Given the description of an element on the screen output the (x, y) to click on. 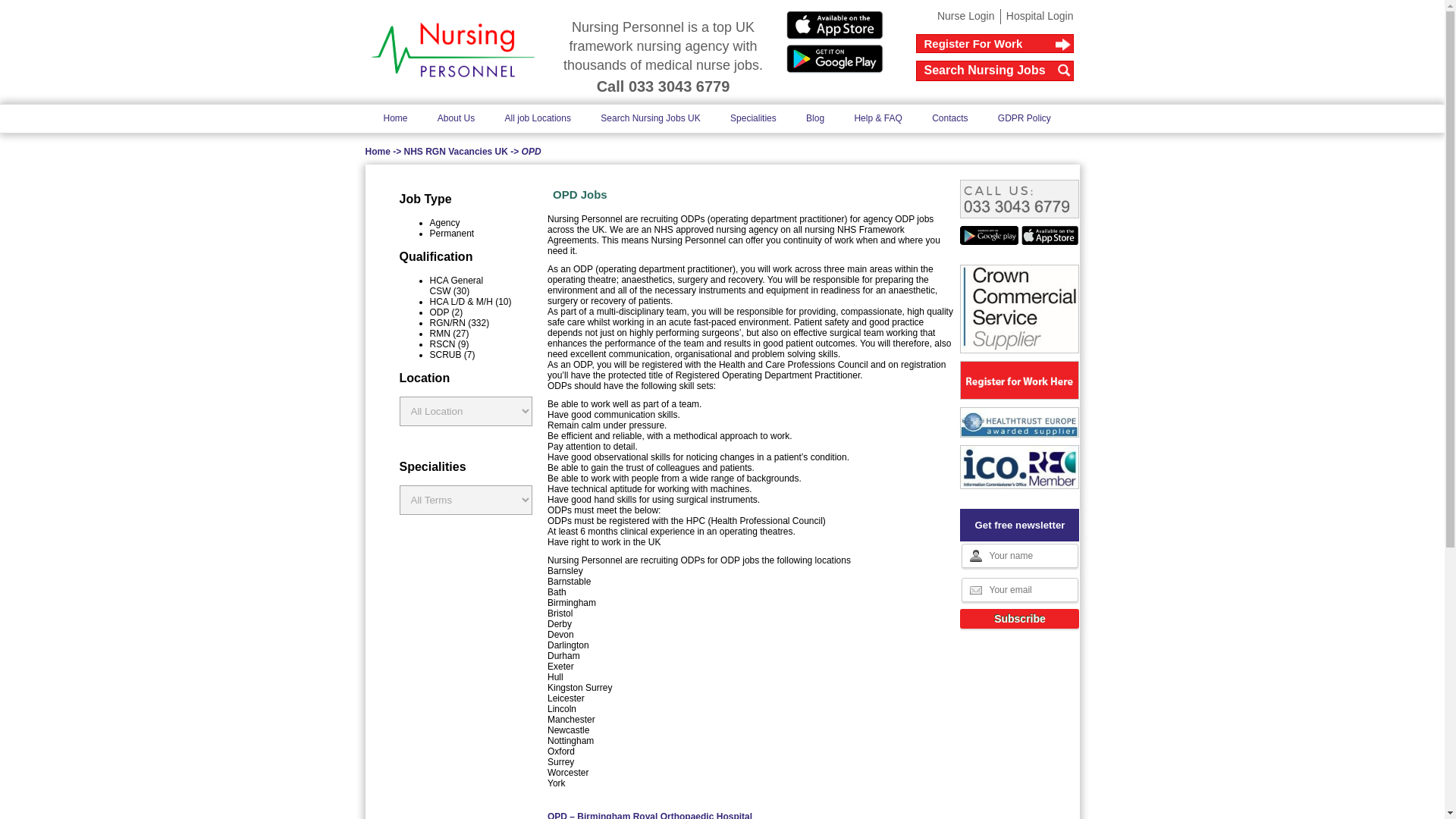
Call 033 3043 6779 (663, 86)
Nurse Login (965, 15)
Search Nursing Jobs (994, 70)
About Us (455, 118)
ISO 9001 Certification for Medical Professional Personnel (1018, 466)
Register For Work (994, 43)
ISO 9001 Certification for Medical Professional Personnel (1018, 422)
Subscribe (1018, 618)
Nursing Jobs from Nursing Personnel (451, 49)
ISO 9001 Certification for Medical Professional Personnel (1018, 308)
